Given the description of an element on the screen output the (x, y) to click on. 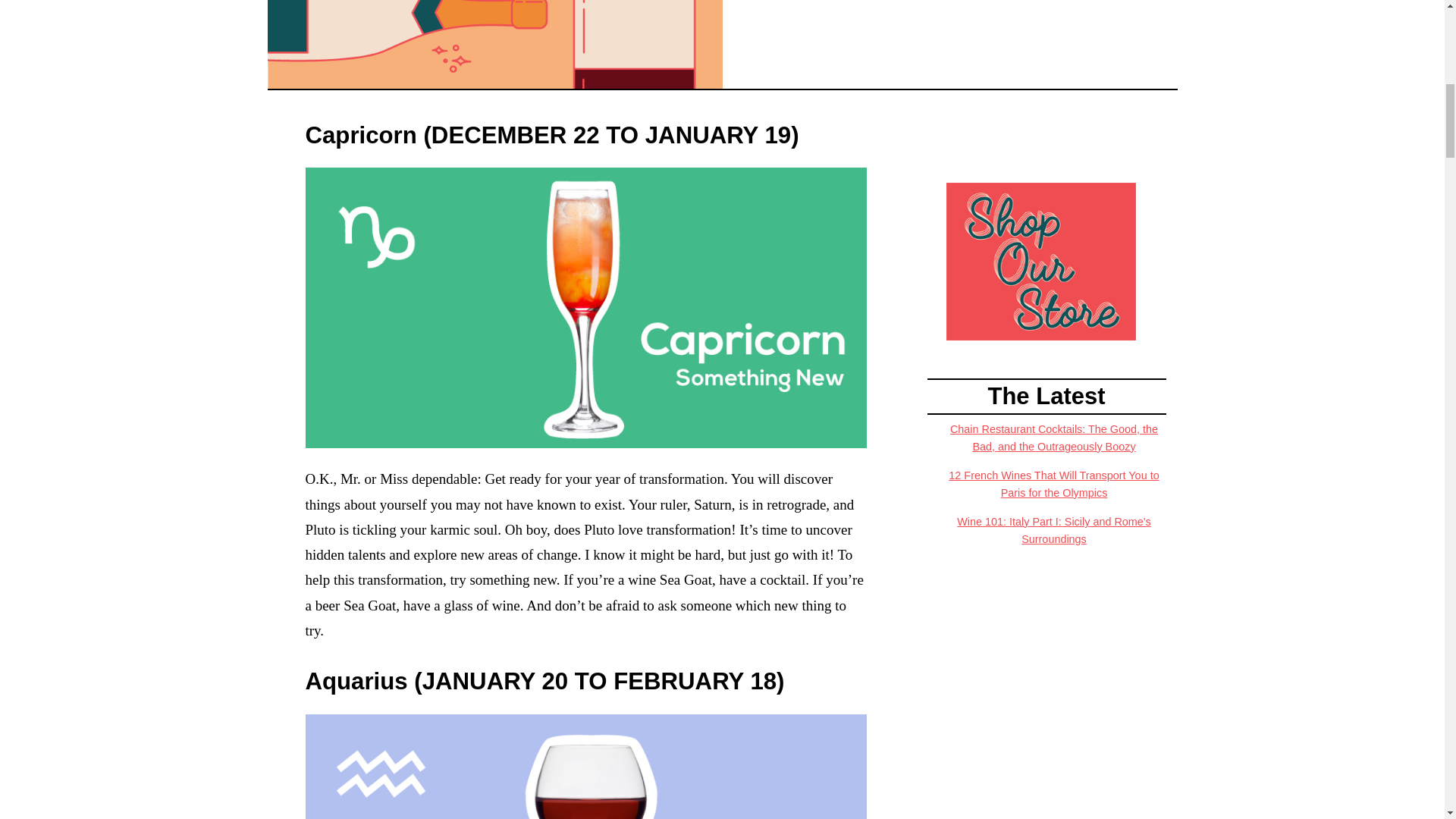
The VinePair Store (1040, 259)
